Given the description of an element on the screen output the (x, y) to click on. 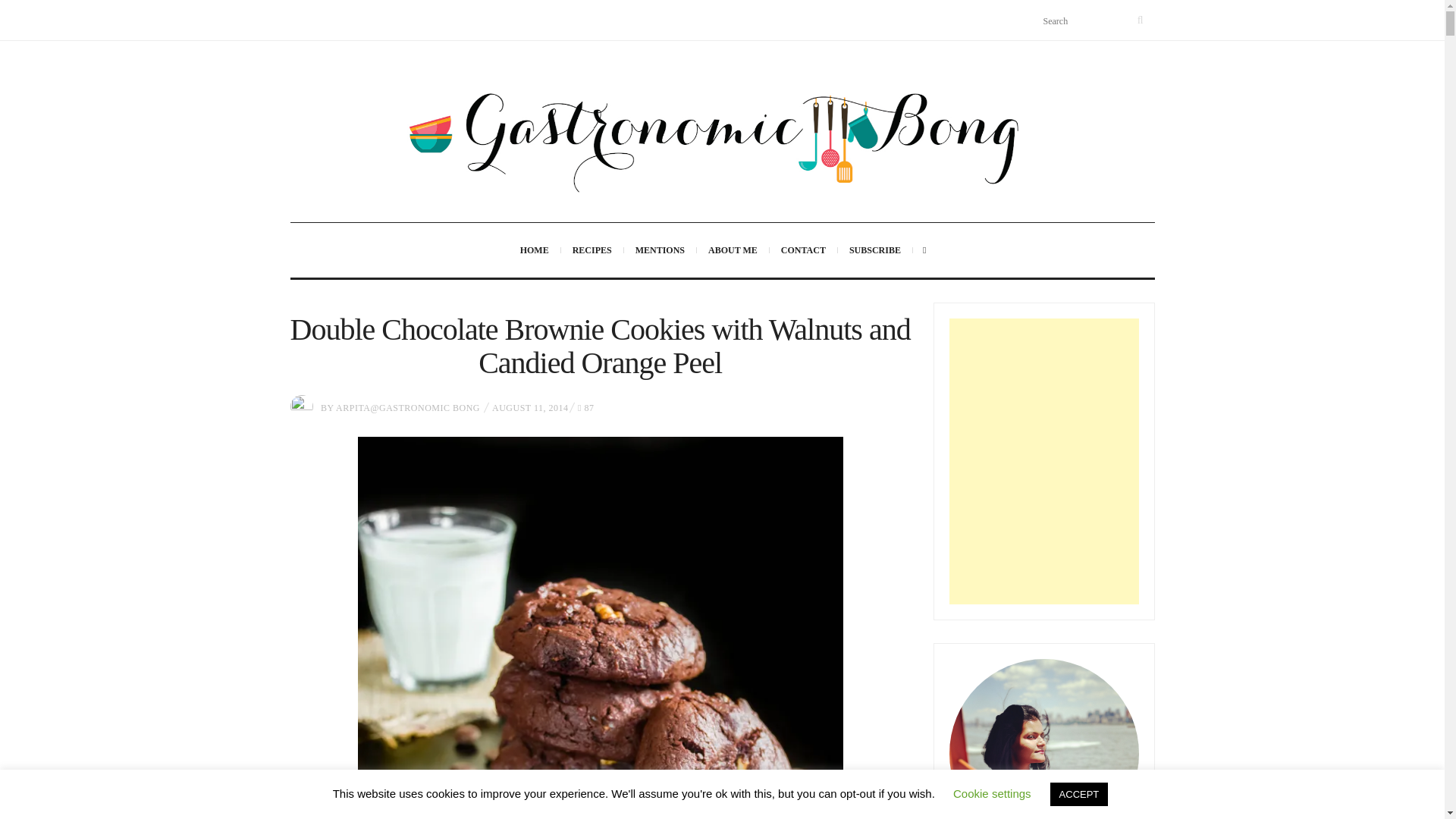
HOME (534, 249)
RECIPES (592, 249)
